Given the description of an element on the screen output the (x, y) to click on. 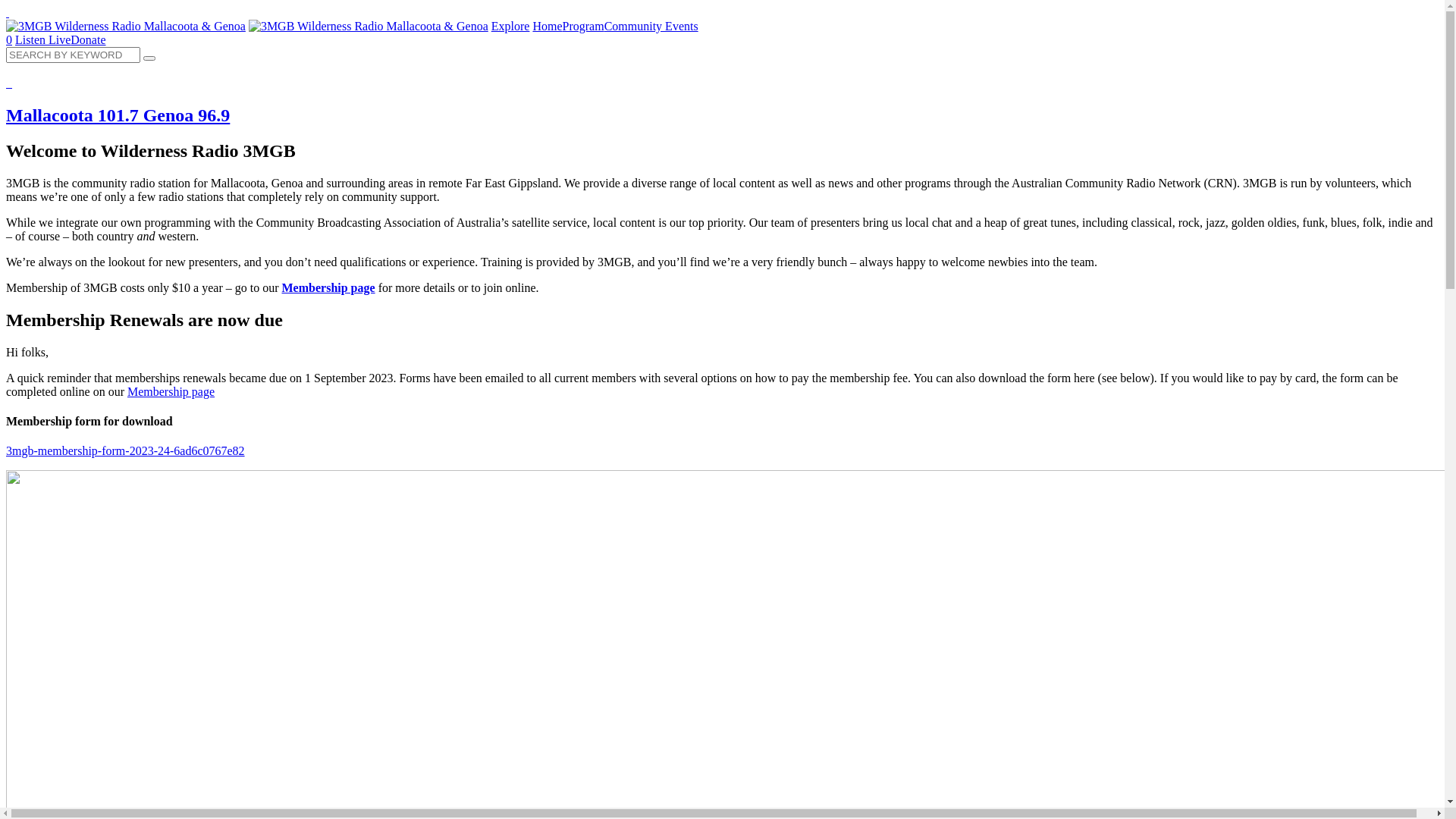
0 Element type: text (9, 39)
Home Element type: text (546, 25)
Donate Element type: text (87, 39)
Program Element type: text (583, 25)
3mgb-membership-form-2023-24-6ad6c0767e82 Element type: text (125, 450)
Explore Element type: text (510, 25)
Community Events Element type: text (651, 25)
Listen Live Element type: text (42, 39)
   Mallacoota 101.7 Genoa 96.9 Element type: text (722, 100)
Membership page Element type: text (328, 287)
Membership page Element type: text (170, 391)
  Element type: text (7, 12)
